Given the description of an element on the screen output the (x, y) to click on. 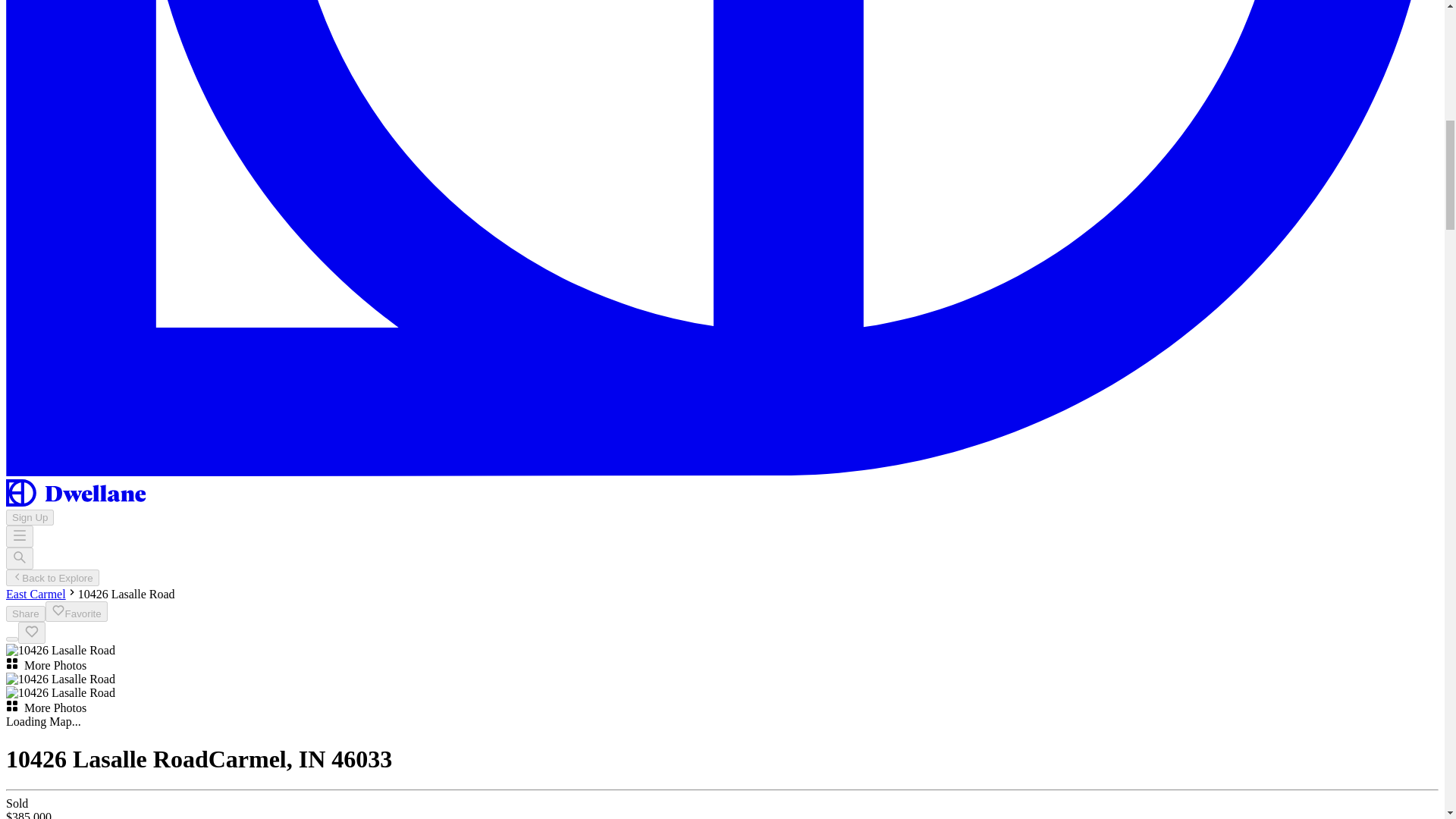
Back to Explore (52, 577)
Share (25, 613)
Sign Up (29, 517)
East Carmel (35, 594)
Favorite (76, 611)
